Given the description of an element on the screen output the (x, y) to click on. 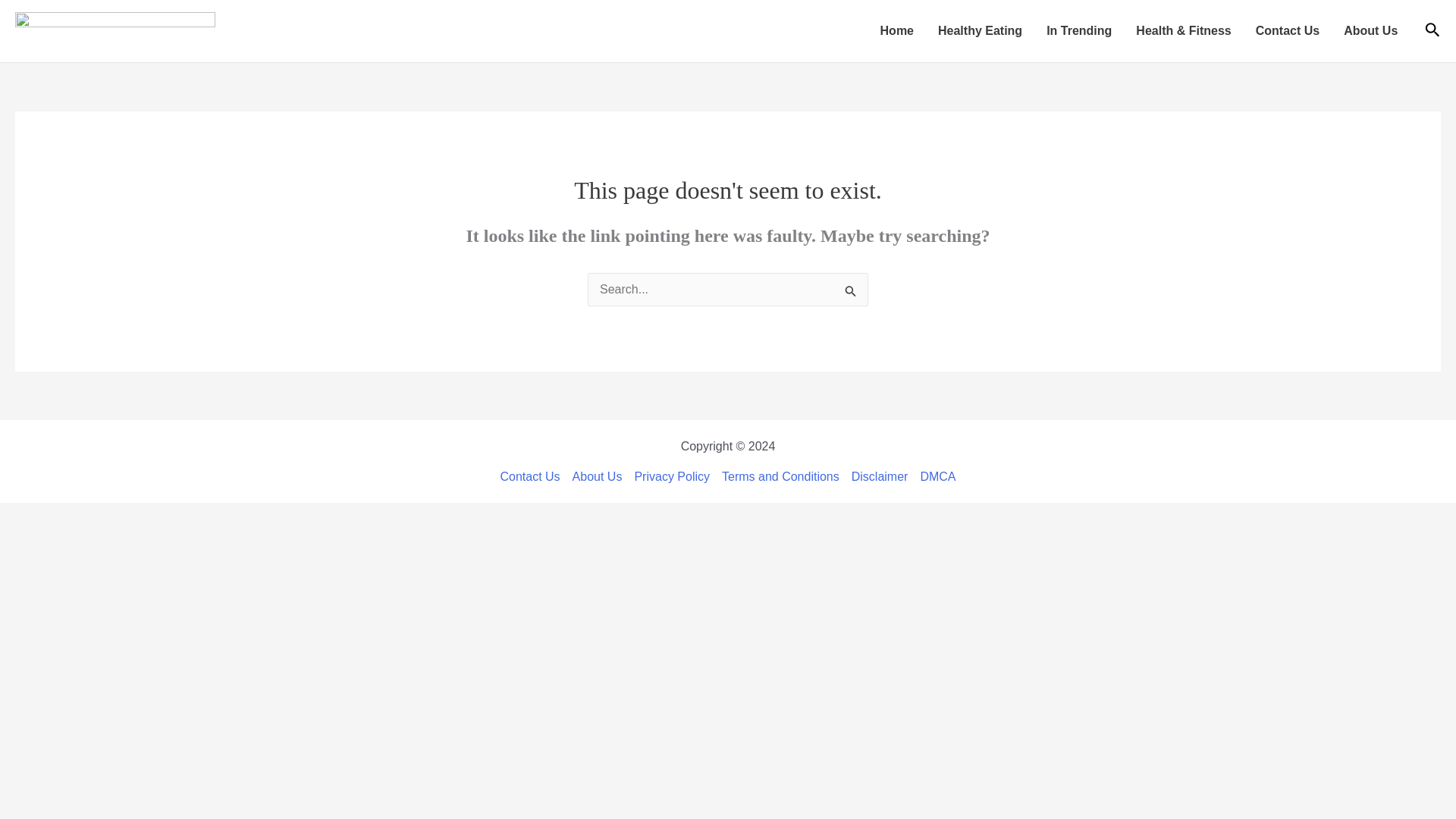
In Trending (1078, 31)
Home (896, 31)
Healthy Eating (979, 31)
About Us (597, 477)
Contact Us (1287, 31)
DMCA (934, 477)
Disclaimer (879, 477)
Terms and Conditions (780, 477)
Contact Us (532, 477)
About Us (1370, 31)
